Given the description of an element on the screen output the (x, y) to click on. 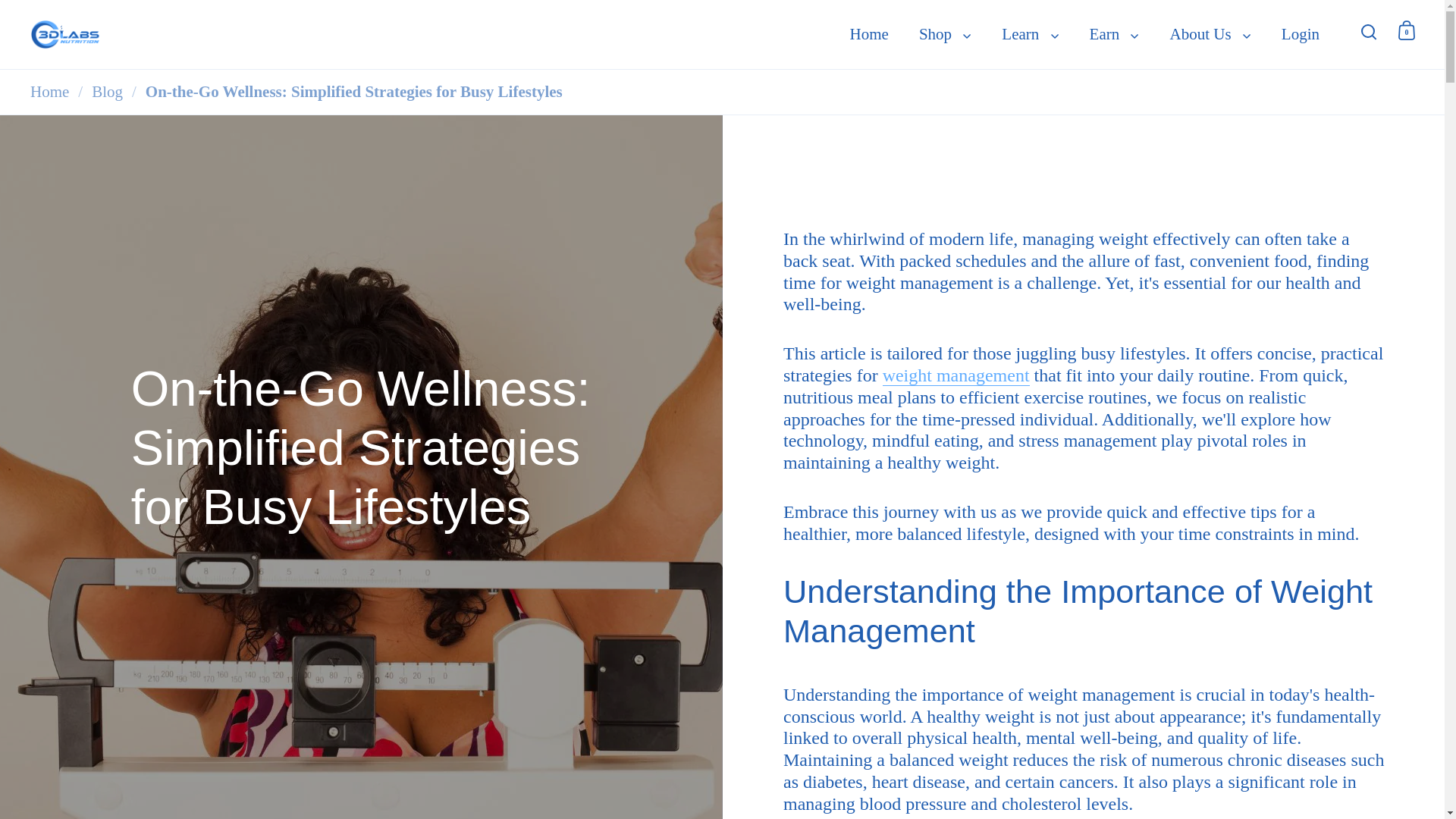
About Us (1209, 34)
Home (869, 34)
Login (1300, 34)
Open cart (1406, 30)
Earn (1114, 34)
Learn (1030, 34)
Open search (1369, 30)
Shop (945, 34)
